Given the description of an element on the screen output the (x, y) to click on. 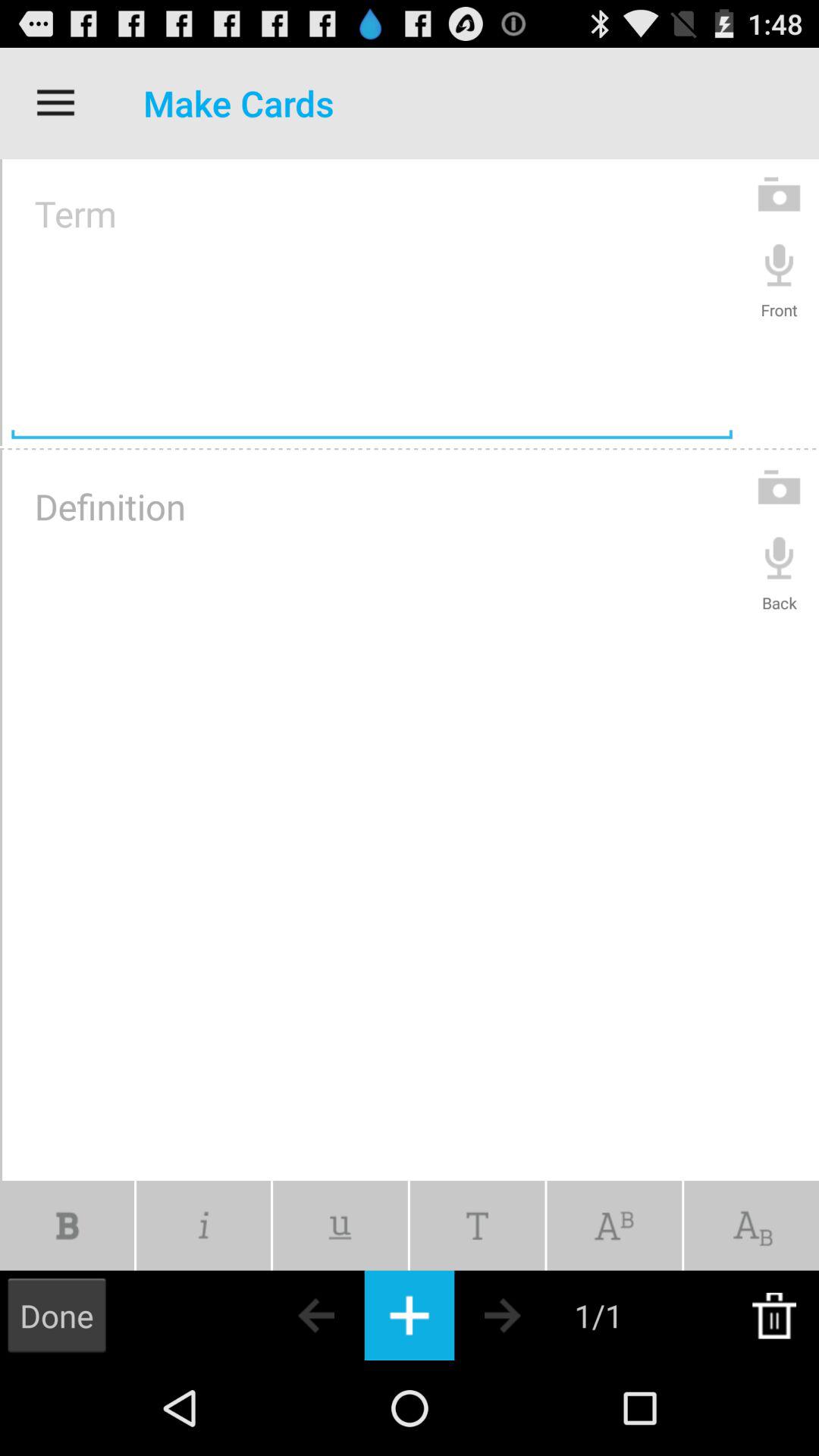
recording speaker (779, 264)
